Given the description of an element on the screen output the (x, y) to click on. 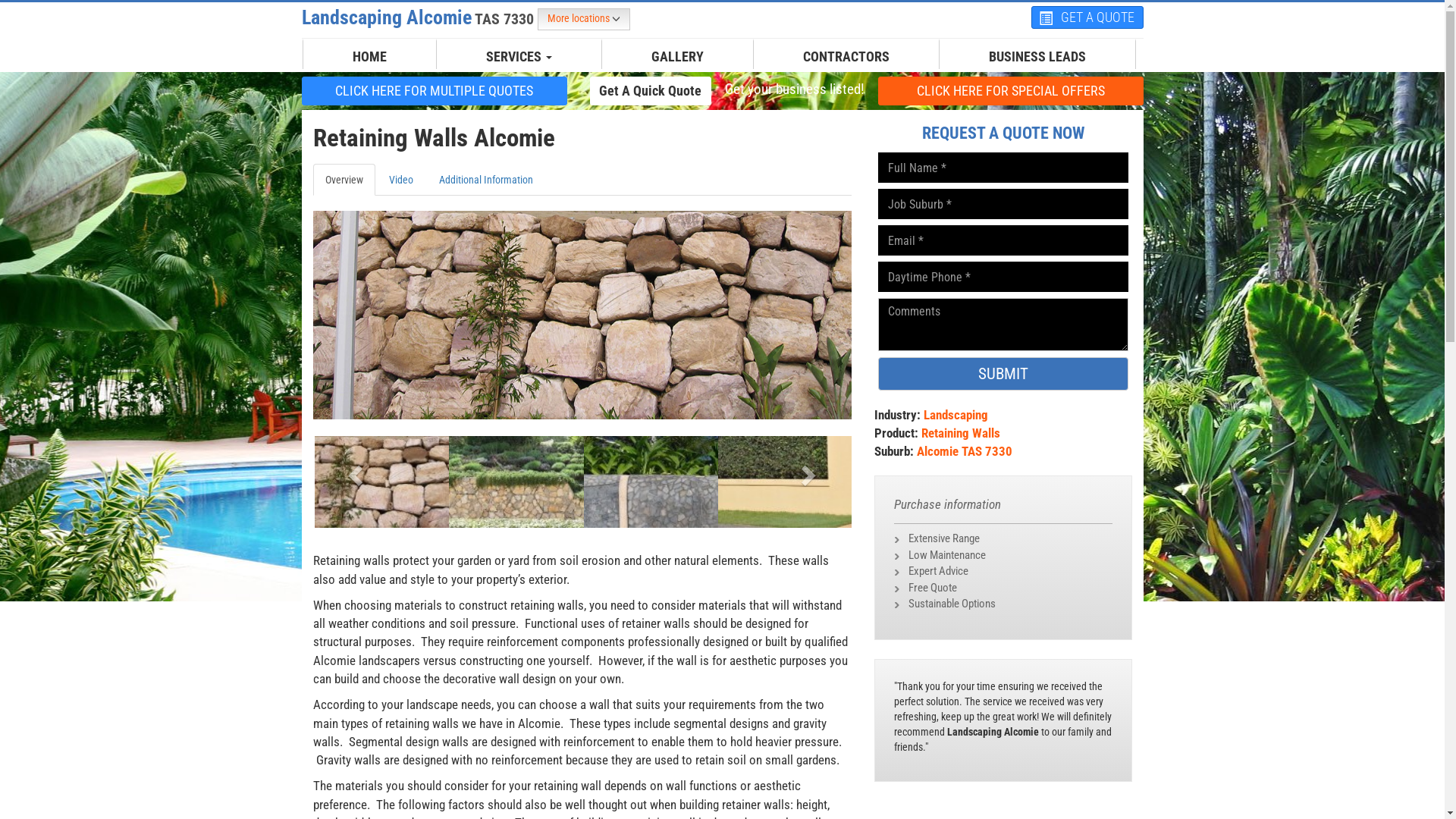
Get A Quick Quote Element type: text (650, 90)
Additional Information Element type: text (485, 179)
CLICK HERE FOR SPECIAL OFFERS Element type: text (1010, 90)
CLICK HERE FOR SPECIAL OFFERS Element type: text (1010, 90)
BUSINESS LEADS Element type: text (1036, 56)
CONTRACTORS Element type: text (845, 56)
GALLERY Element type: text (677, 56)
SUBMIT Element type: text (1003, 373)
CLICK HERE FOR MULTIPLE QUOTES Element type: text (434, 90)
HOME Element type: text (369, 56)
CLICK HERE FOR MULTIPLE QUOTES Element type: text (434, 90)
Get A Quick Quote Element type: text (650, 90)
More locations Element type: text (582, 19)
Get your business listed! Element type: text (793, 89)
Overview Element type: text (343, 179)
SERVICES Element type: text (518, 56)
Landscaping Alcomie TAS 7330 Element type: text (419, 17)
GET A QUOTE Element type: text (1087, 17)
prev Element type: hover (352, 470)
Video Element type: text (400, 179)
